Given the description of an element on the screen output the (x, y) to click on. 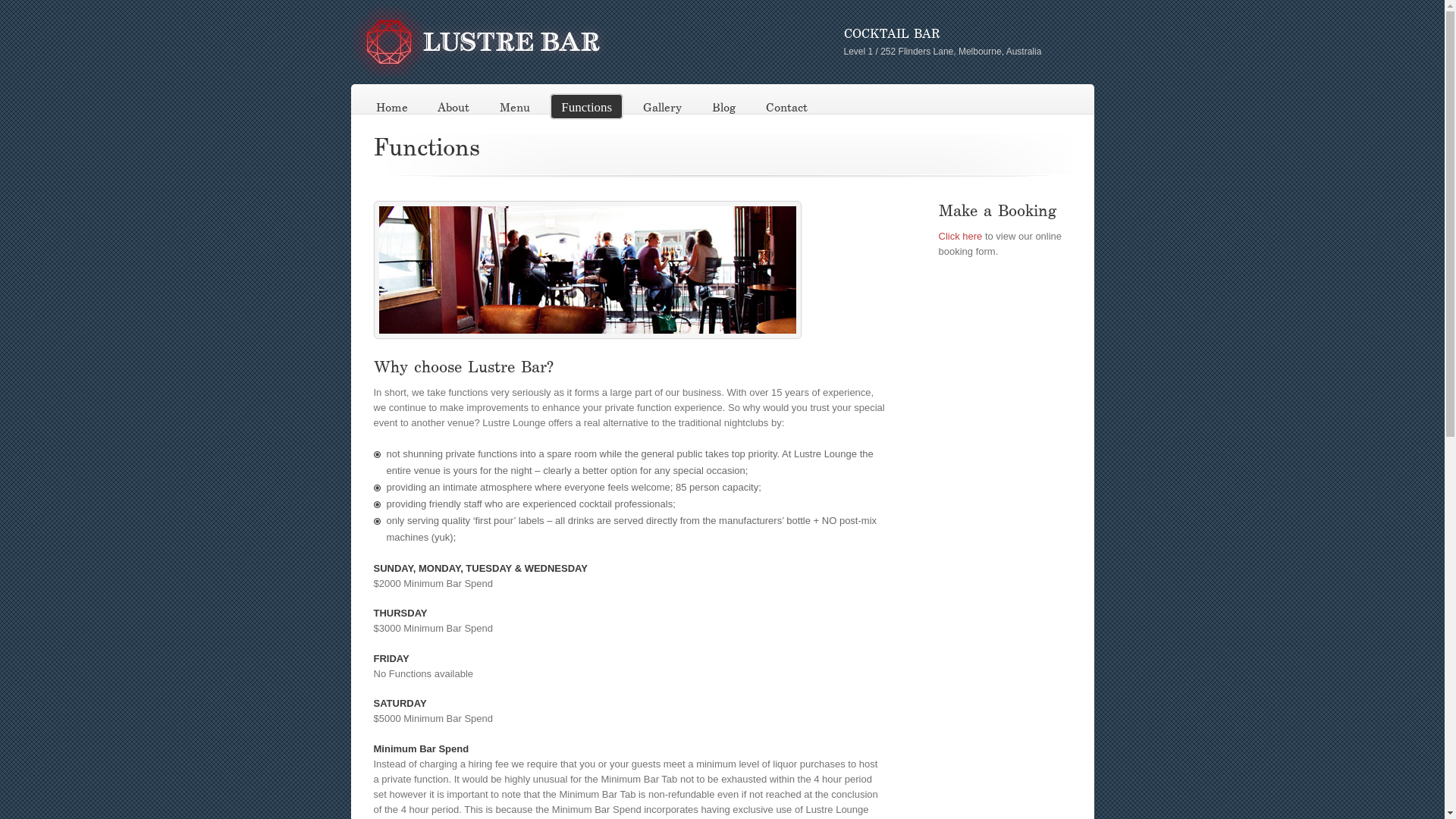
Menu Element type: text (514, 107)
About Element type: text (453, 107)
Functions Element type: text (586, 106)
Contact Element type: text (786, 107)
Gallery Element type: text (662, 107)
Blog Element type: text (723, 107)
Click here Element type: text (960, 235)
Home Element type: text (391, 107)
